Given the description of an element on the screen output the (x, y) to click on. 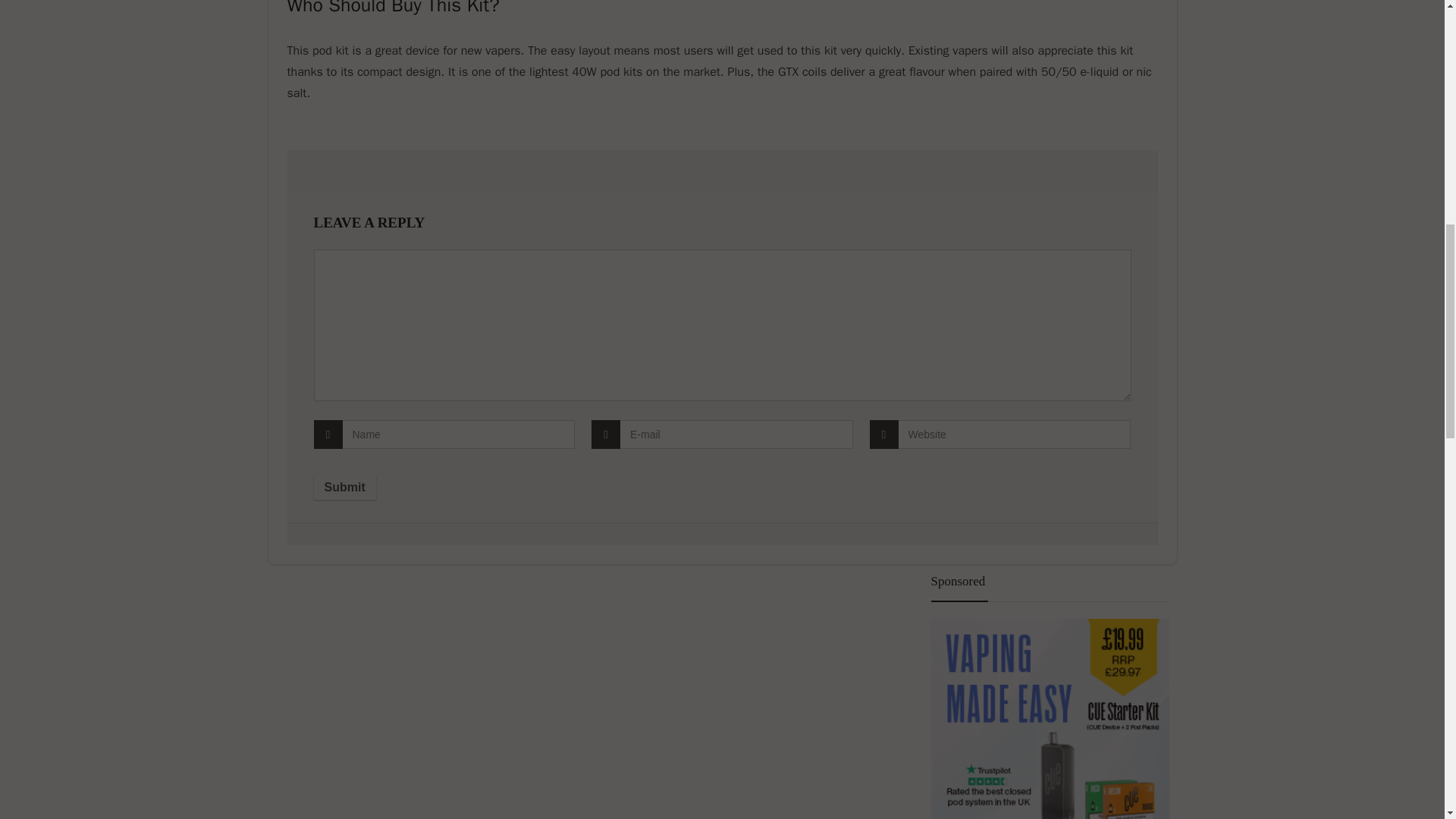
Submit (344, 487)
Submit (344, 487)
